Given the description of an element on the screen output the (x, y) to click on. 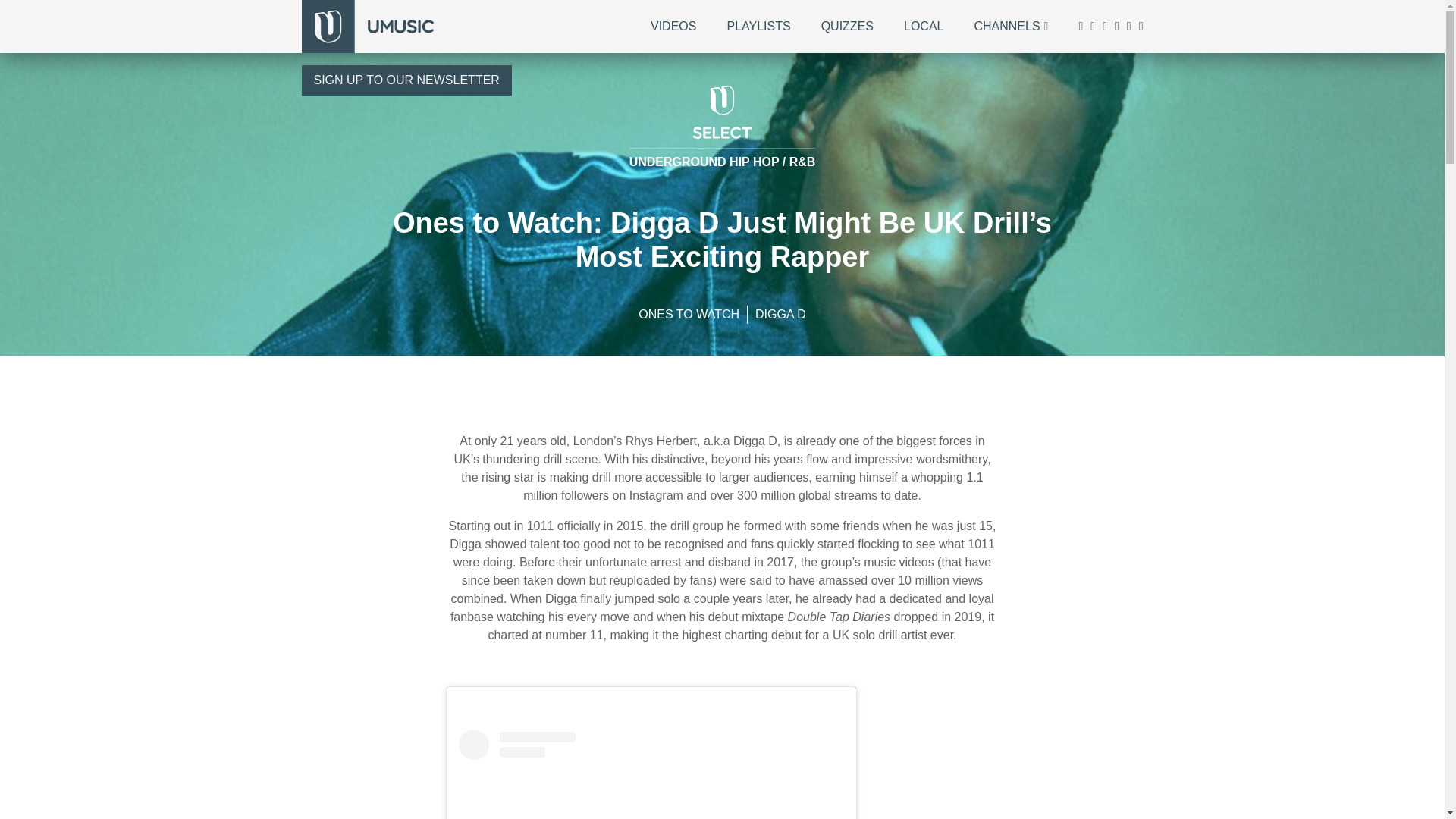
LOCAL (923, 25)
QUIZZES (847, 25)
CHANNELS (1006, 25)
PLAYLISTS (758, 25)
VIDEOS (672, 25)
